Given the description of an element on the screen output the (x, y) to click on. 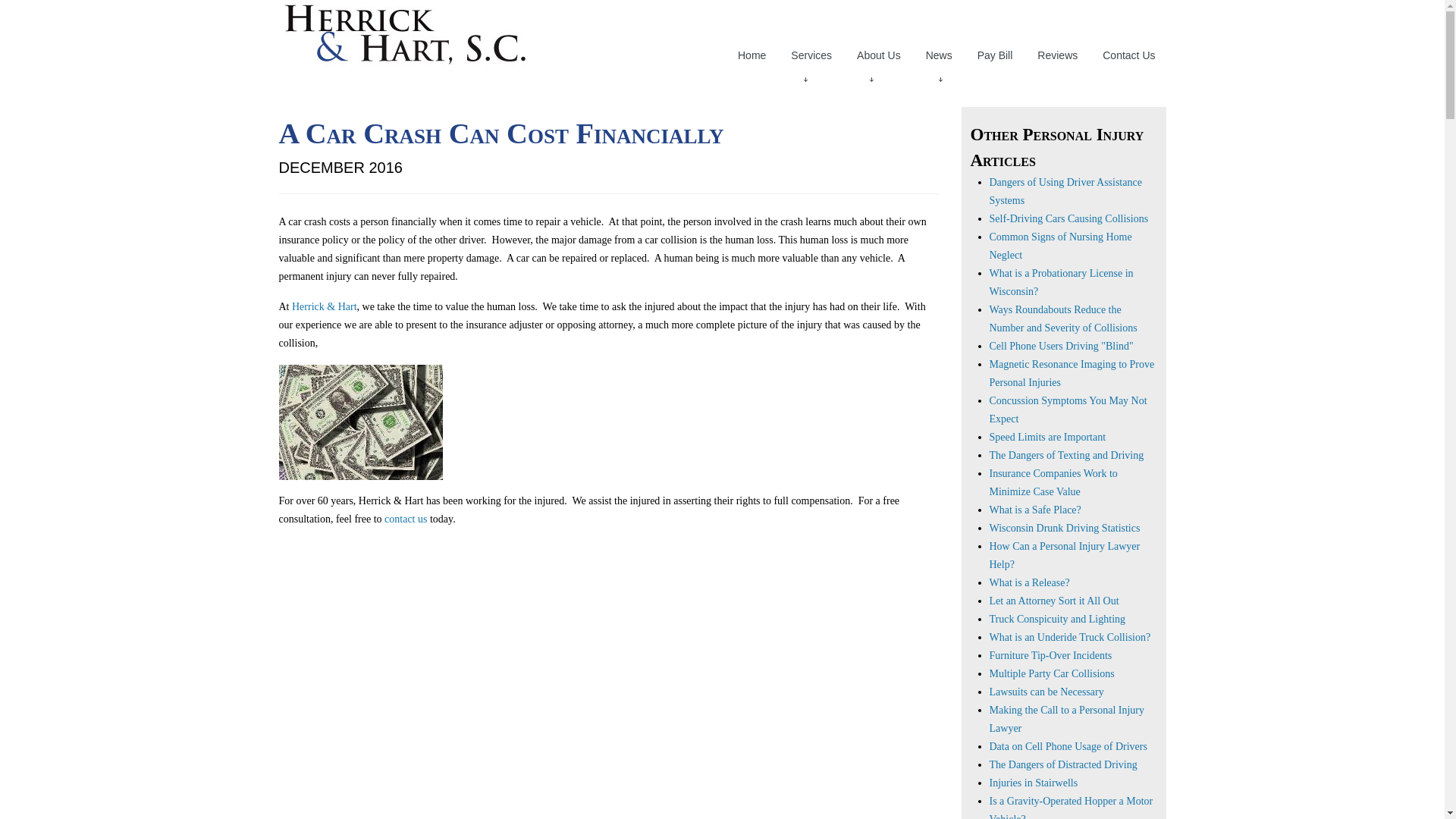
Reviews (1056, 55)
Contact Us (1129, 55)
Multiple Party Car Collisions (1050, 673)
What is a Safe Place? (1034, 509)
Truck Conspicuity and Lighting (1056, 618)
About Us (878, 55)
How Can a Personal Injury Lawyer Help? (1064, 555)
Lawsuits can be Necessary (1045, 691)
Wisconsin Drunk Driving Statistics (1064, 527)
What is an Underide Truck Collision? (1069, 636)
Pay Bill (994, 55)
Magnetic Resonance Imaging to Prove Personal Injuries (1071, 373)
Concussion Symptoms You May Not Expect (1067, 409)
The Dangers of Texting and Driving (1065, 455)
